Given the description of an element on the screen output the (x, y) to click on. 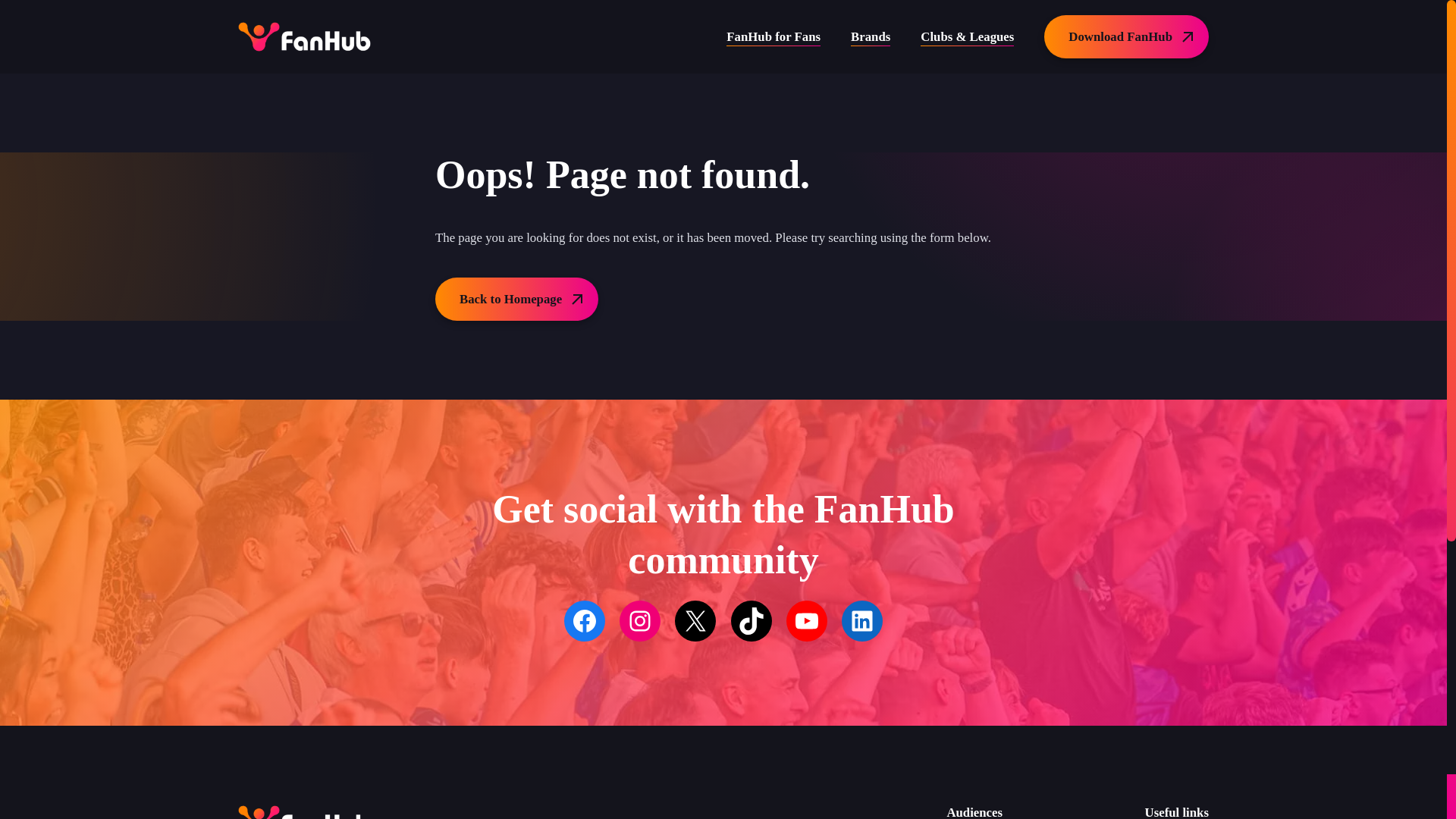
YouTube (806, 621)
Brands (869, 36)
Download FanHub (1125, 36)
Back to Homepage (516, 299)
FanHub for Fans (773, 36)
LinkedIn (861, 658)
